Given the description of an element on the screen output the (x, y) to click on. 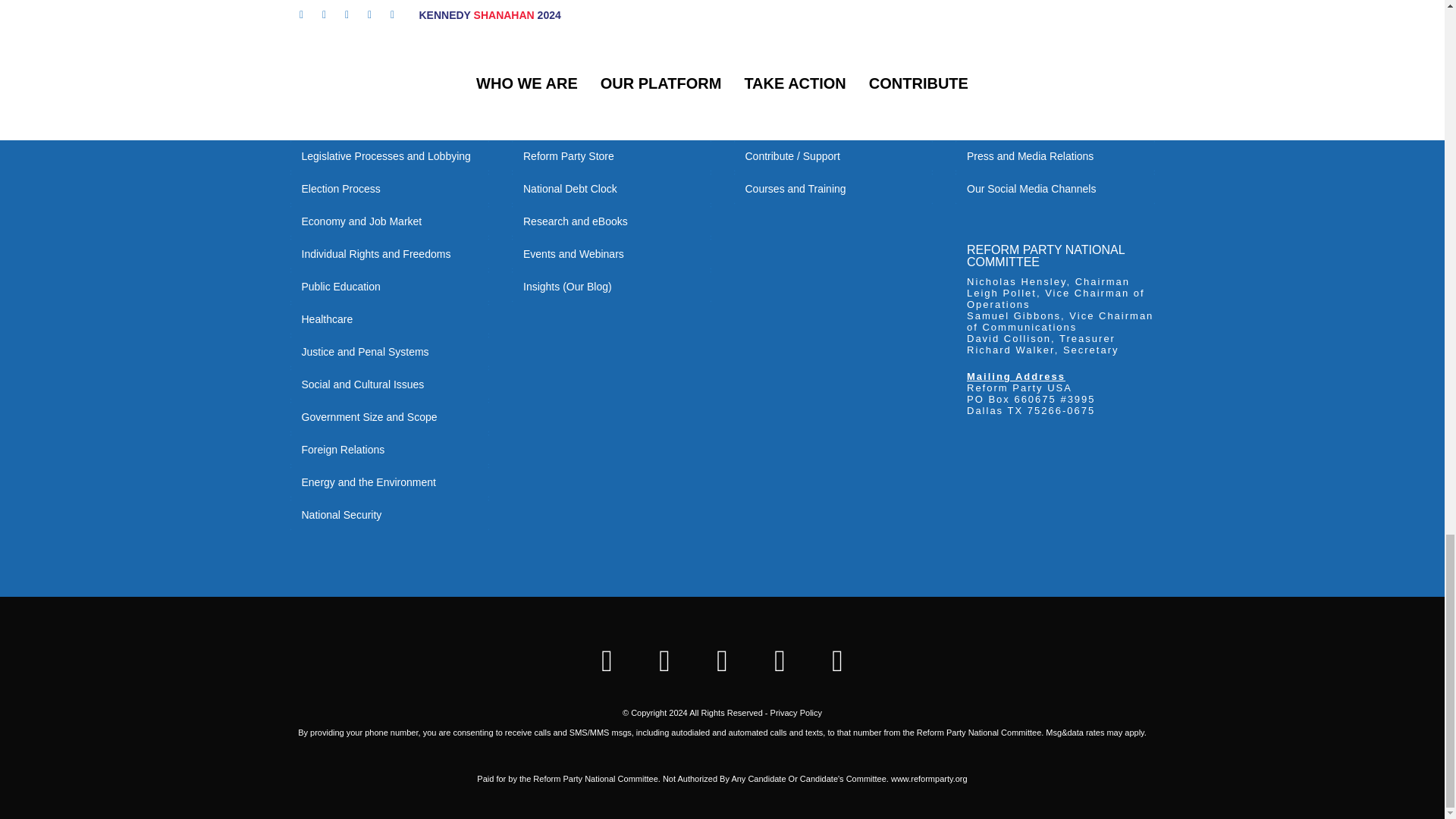
Government and Ethics (389, 58)
Public Education (389, 286)
Election Process (389, 188)
Tax Policy (389, 123)
Individual Rights and Freedoms (389, 254)
Legislative Processes and Lobbying (389, 155)
Economy and Job Market (389, 221)
Fiscal Responsibility (389, 91)
